Given the description of an element on the screen output the (x, y) to click on. 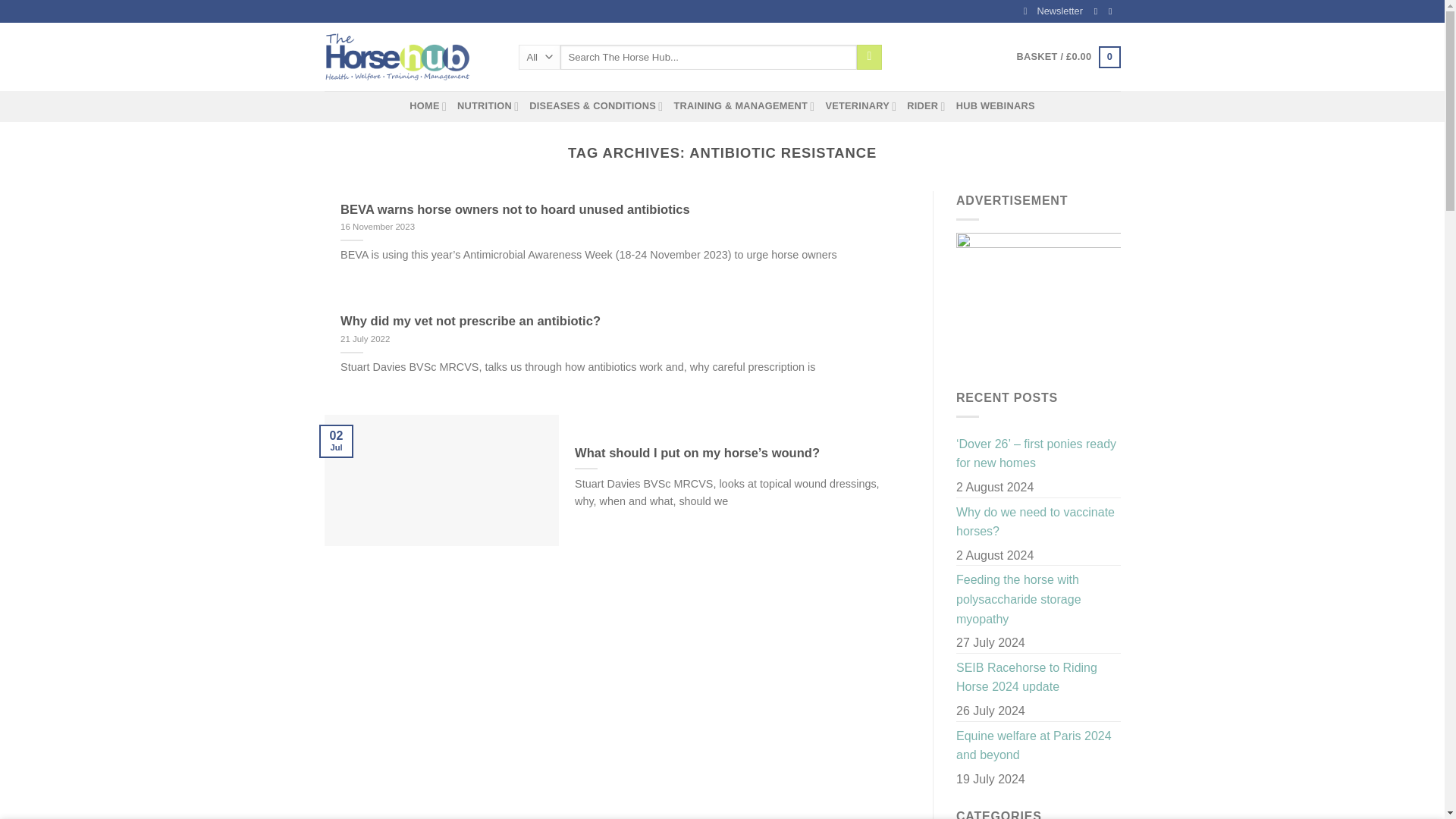
The Horse Hub - horse training and health information (410, 56)
Why did my vet not prescribe an antibiotic? (469, 321)
HOME (427, 105)
Newsletter (1053, 11)
BEVA warns horse owners not to hoard unused antibiotics (515, 209)
Search (869, 57)
HUB WEBINARS (995, 105)
NUTRITION (487, 105)
Basket (1067, 57)
Sign up for Newsletter (1053, 11)
VETERINARY (860, 105)
RIDER (925, 105)
